Given the description of an element on the screen output the (x, y) to click on. 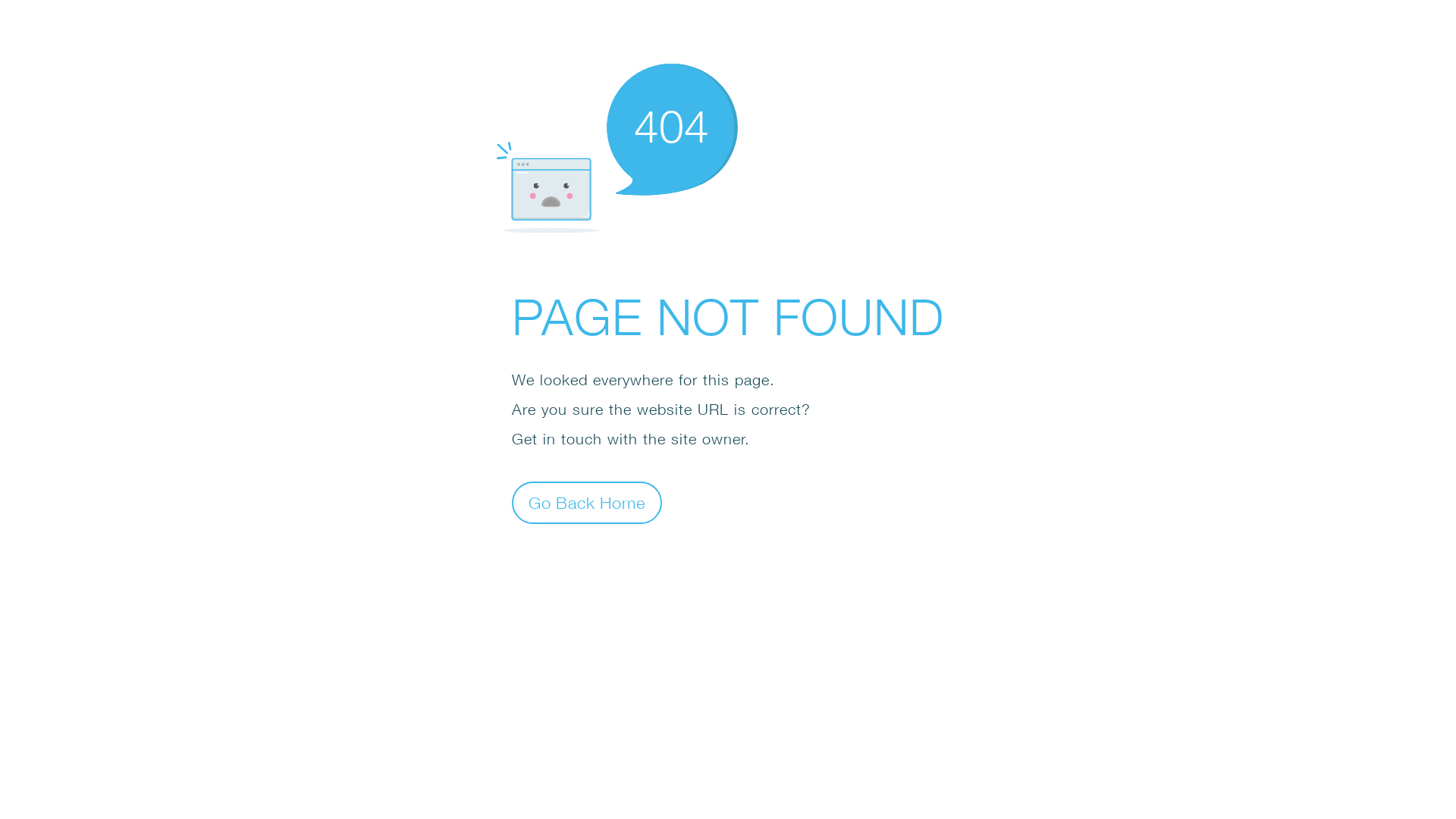
Go Back Home Element type: text (586, 502)
